Given the description of an element on the screen output the (x, y) to click on. 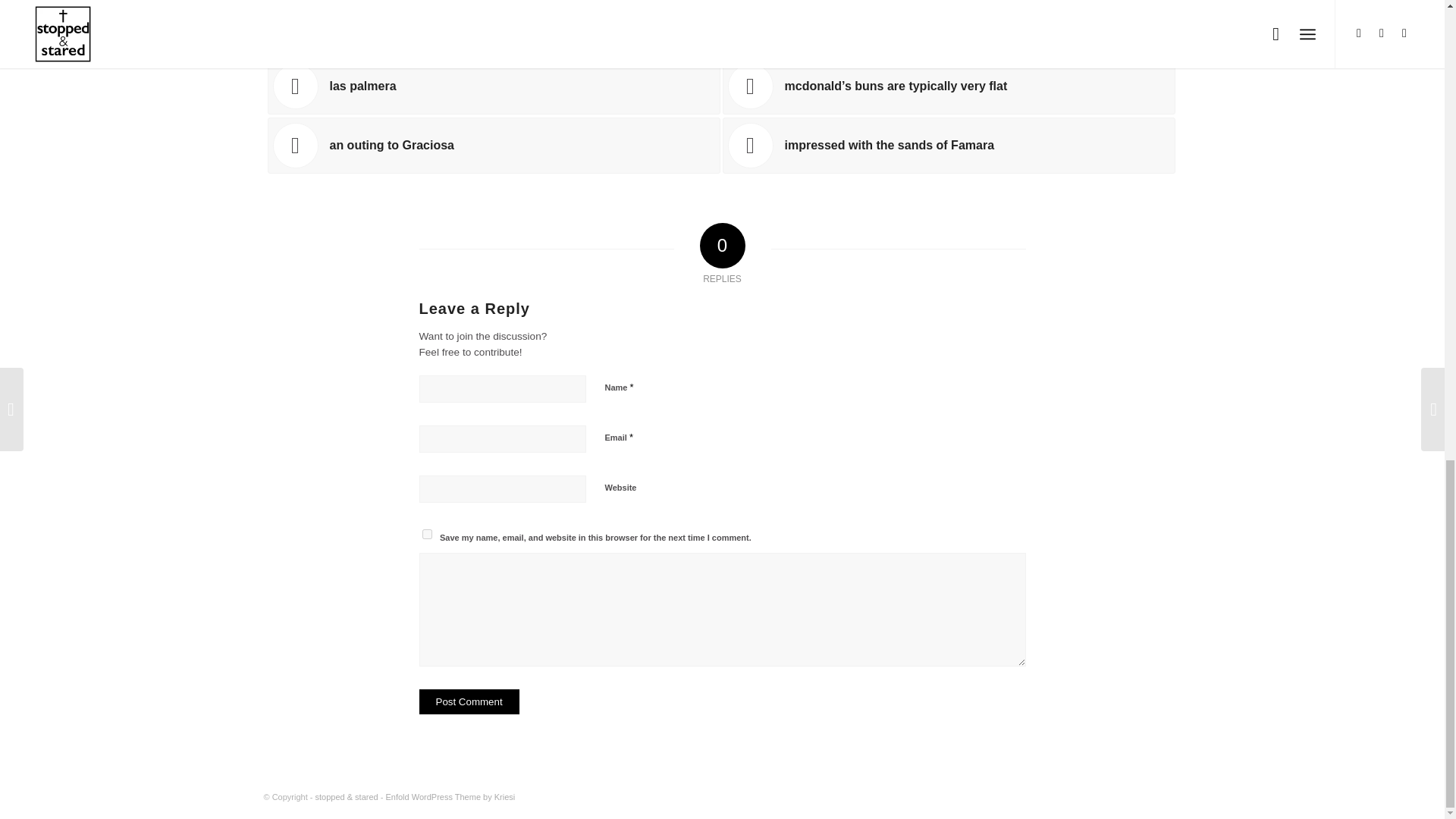
ash-flicked bubbles and vomit-fuelled foam (948, 27)
the beaches of graciosa (492, 27)
las palmera (492, 86)
Post Comment (468, 701)
impressed with the sands of Famara (948, 145)
yes (426, 533)
an outing to Graciosa (492, 145)
the beaches of graciosa (492, 27)
